Given the description of an element on the screen output the (x, y) to click on. 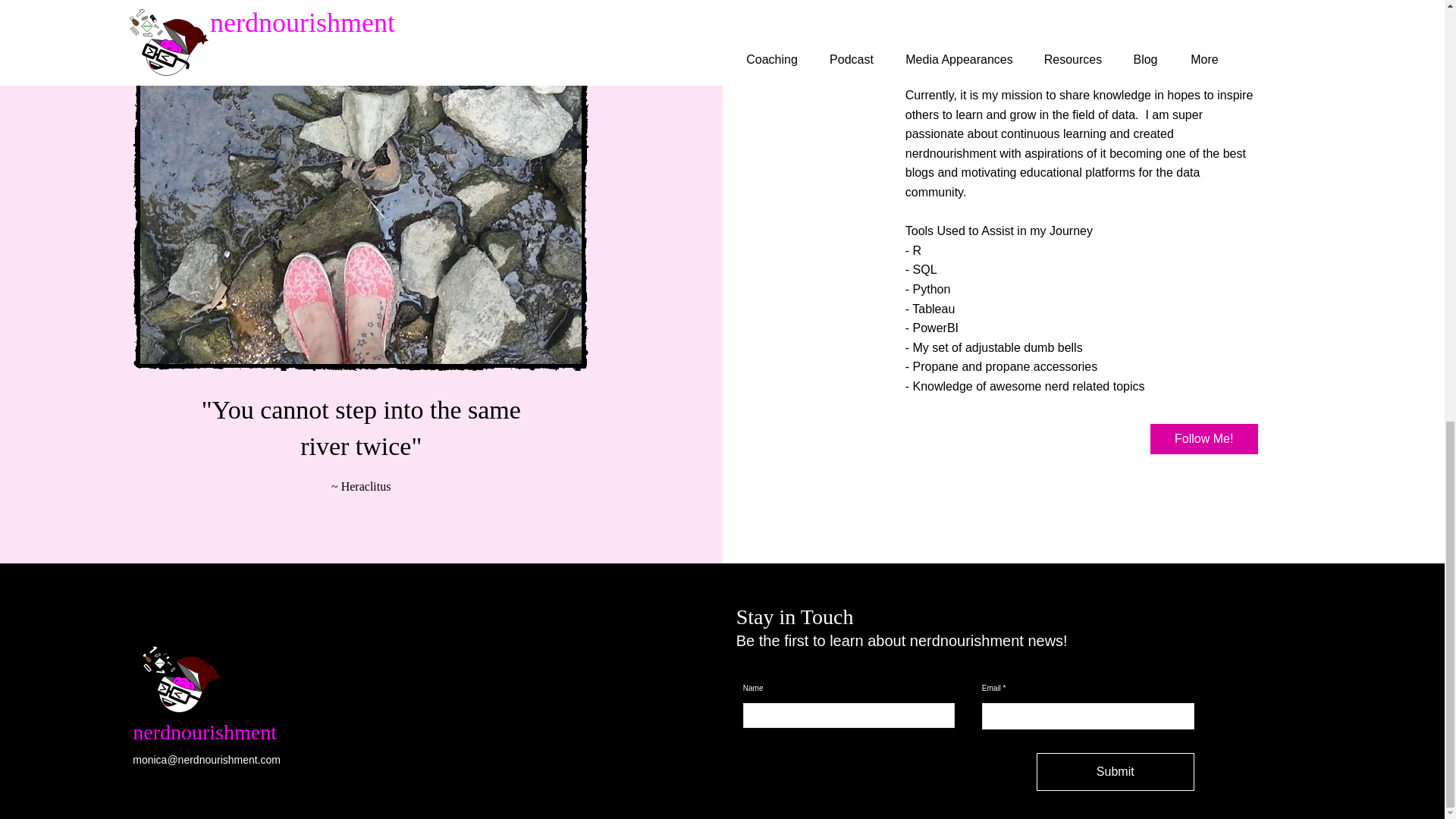
Follow Me! (1203, 439)
Submit (1114, 771)
